Given the description of an element on the screen output the (x, y) to click on. 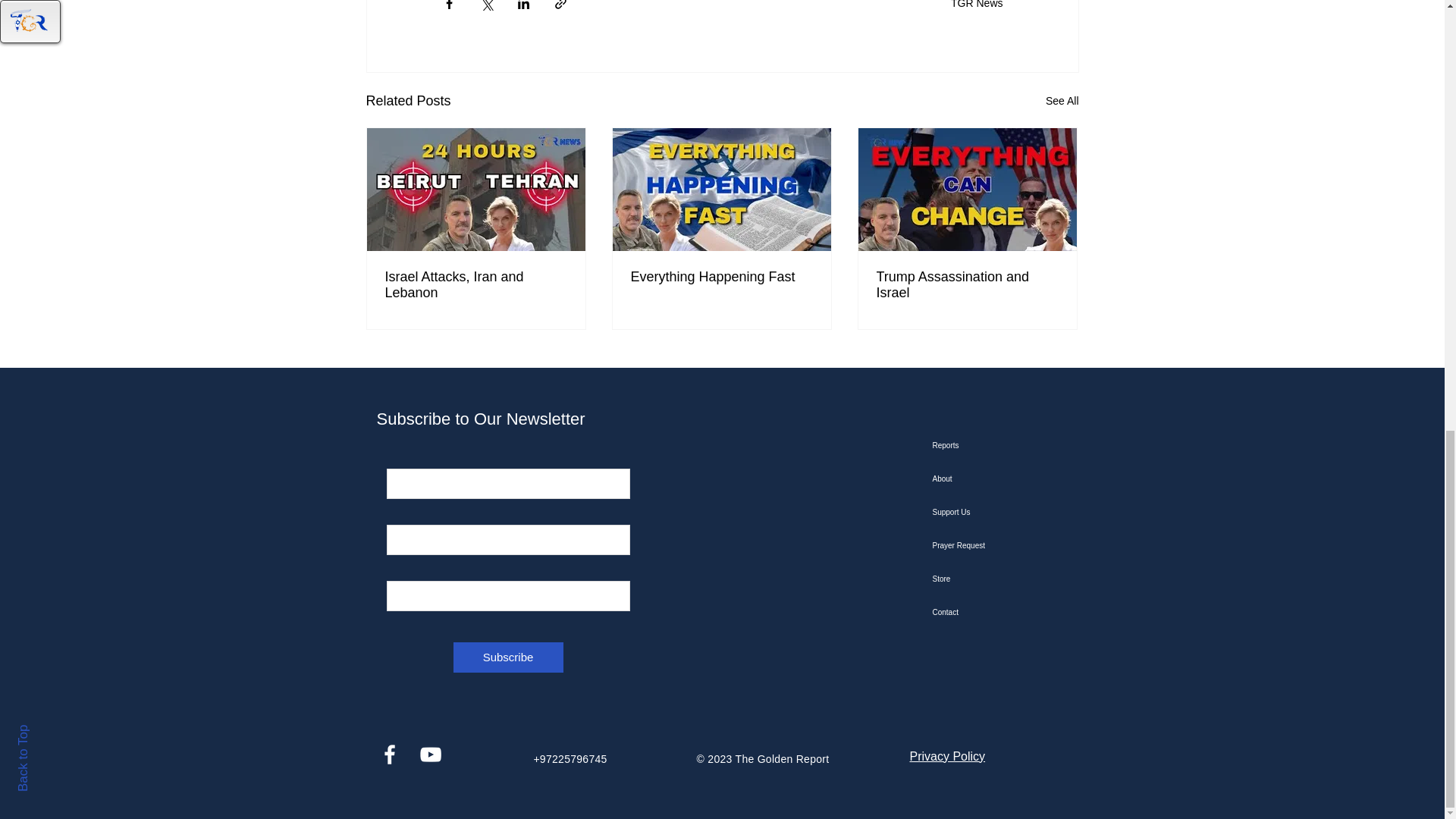
See All (1061, 101)
Trump Assassination and Israel (967, 285)
Subscribe (507, 657)
Reports (1009, 445)
TGR News (976, 4)
Israel Attacks, Iran and Lebanon (476, 285)
Everything Happening Fast (721, 277)
